Given the description of an element on the screen output the (x, y) to click on. 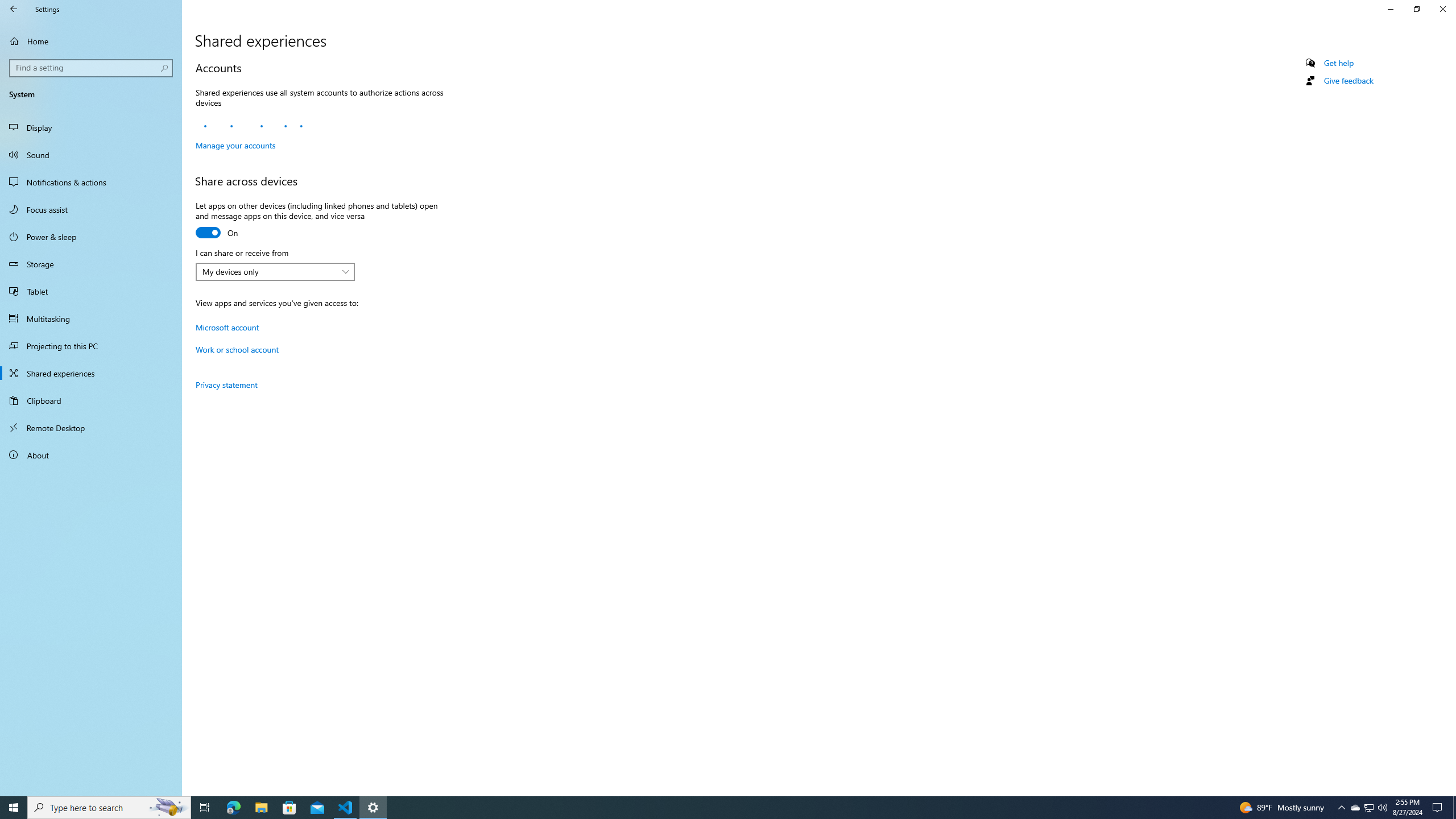
Sound (91, 154)
Restore Settings (1416, 9)
Notifications & actions (91, 181)
